Given the description of an element on the screen output the (x, y) to click on. 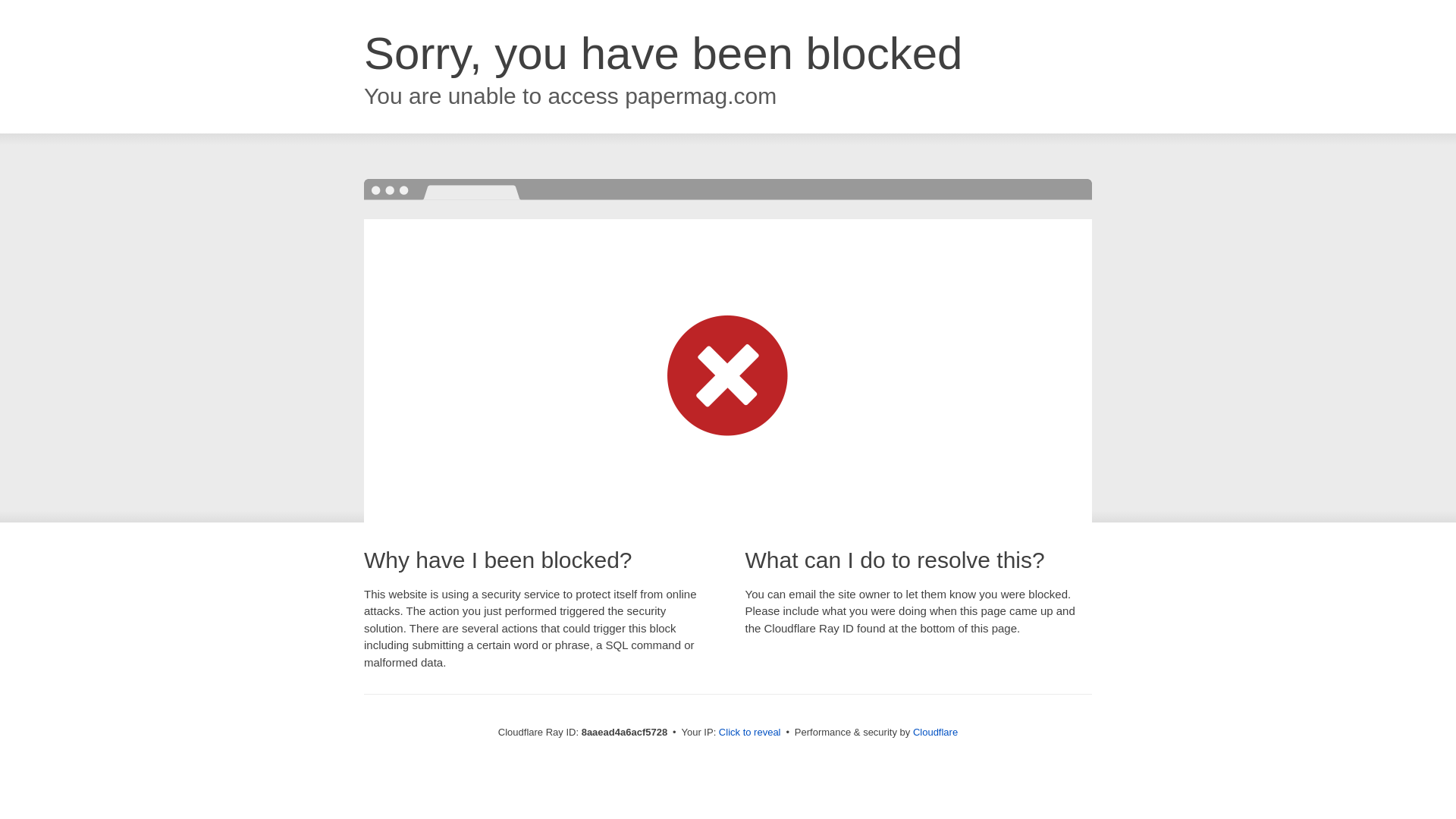
Cloudflare (935, 731)
Click to reveal (749, 732)
